Given the description of an element on the screen output the (x, y) to click on. 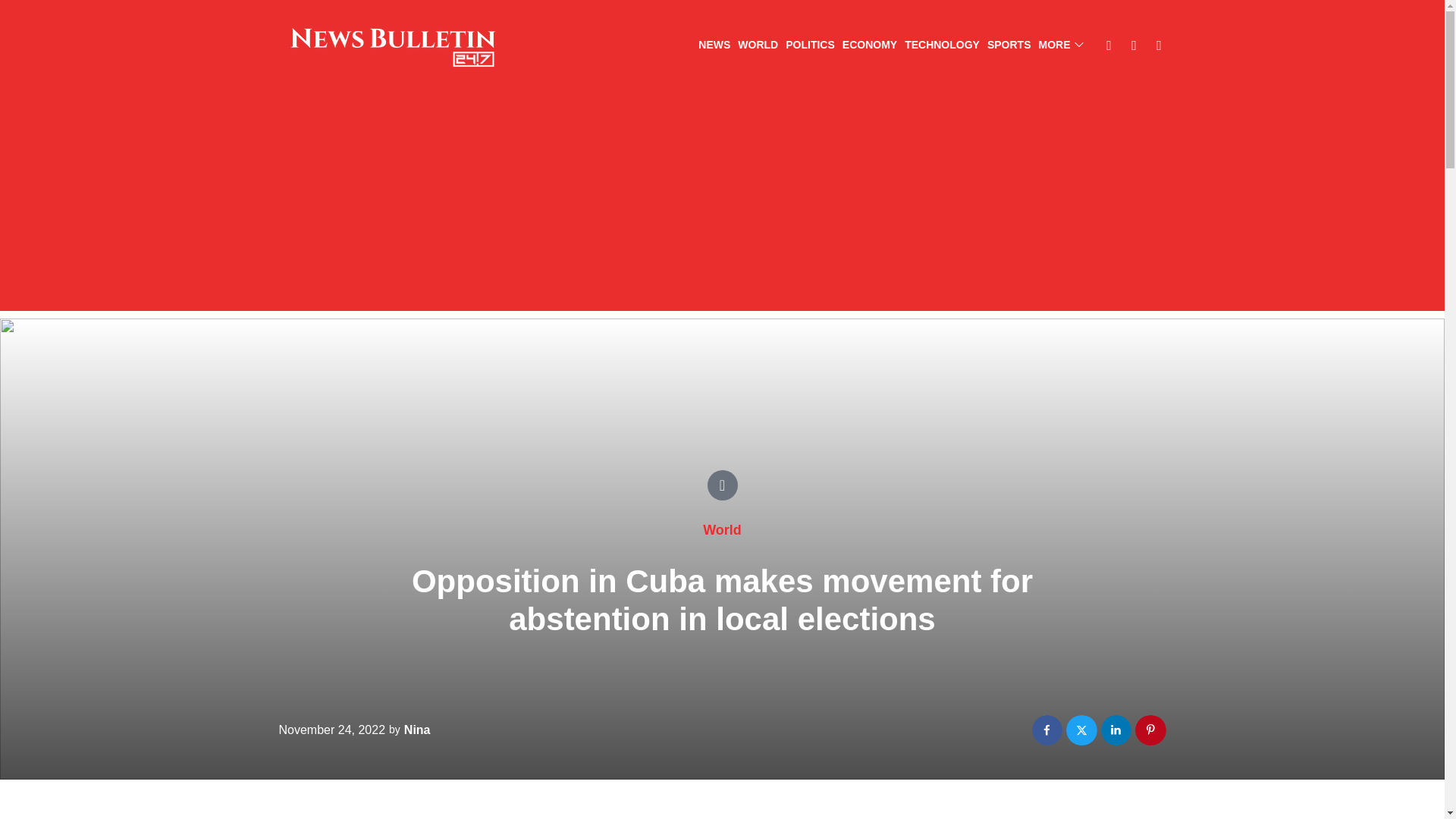
NEWS (714, 45)
MORE (1061, 45)
TECHNOLOGY (941, 45)
World (722, 529)
WORLD (757, 45)
SPORTS (1008, 45)
ECONOMY (869, 45)
POLITICS (810, 45)
